Given the description of an element on the screen output the (x, y) to click on. 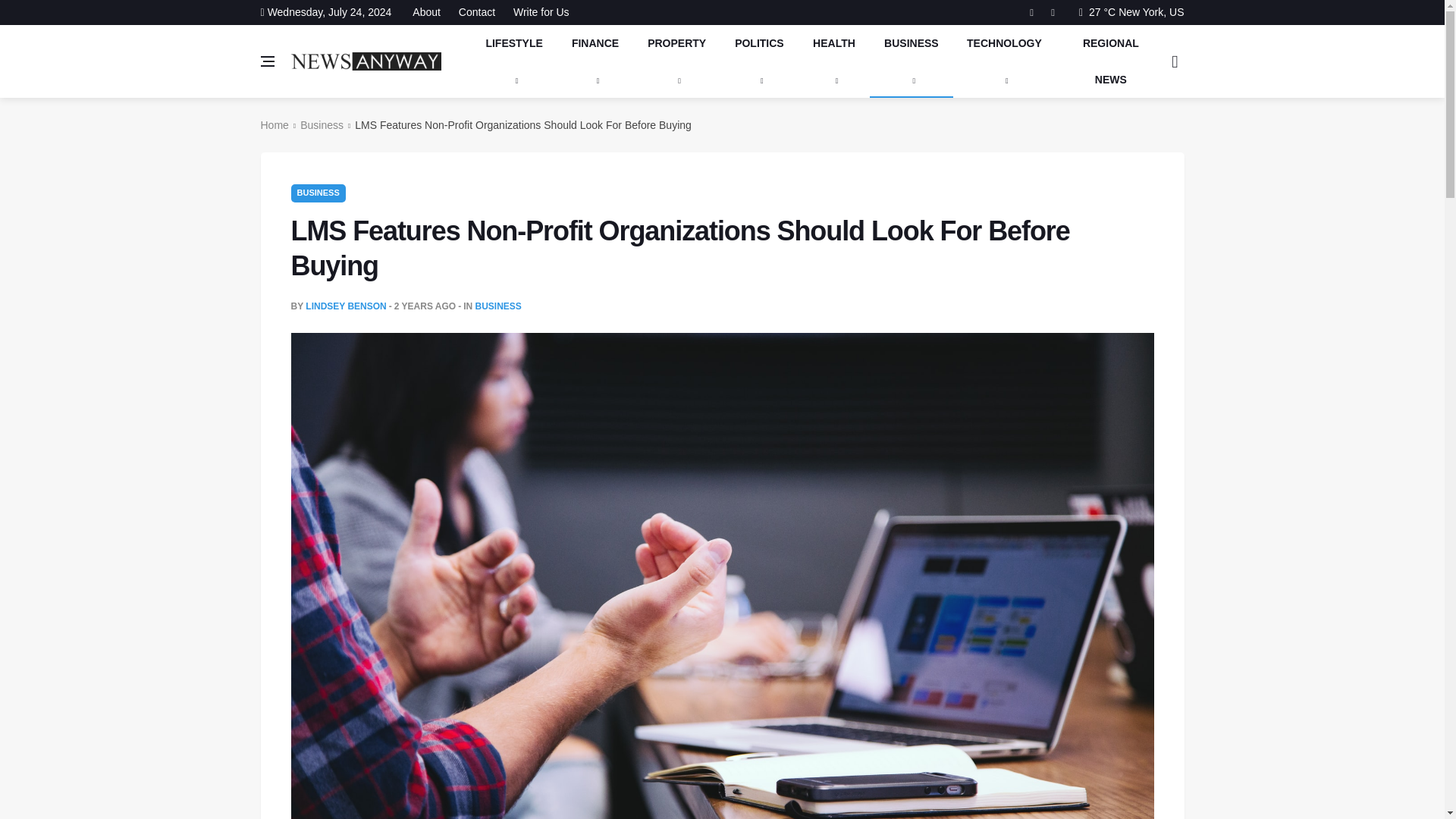
TECHNOLOGY (1005, 61)
PROPERTY (676, 61)
BUSINESS (911, 61)
POLITICS (758, 61)
LINDSEY BENSON (345, 306)
Contact (476, 12)
HEALTH (833, 61)
BUSINESS (497, 306)
FINANCE (595, 61)
News Anyway (365, 61)
Home (274, 124)
REGIONAL NEWS (1110, 61)
Business (321, 124)
About (430, 12)
